Given the description of an element on the screen output the (x, y) to click on. 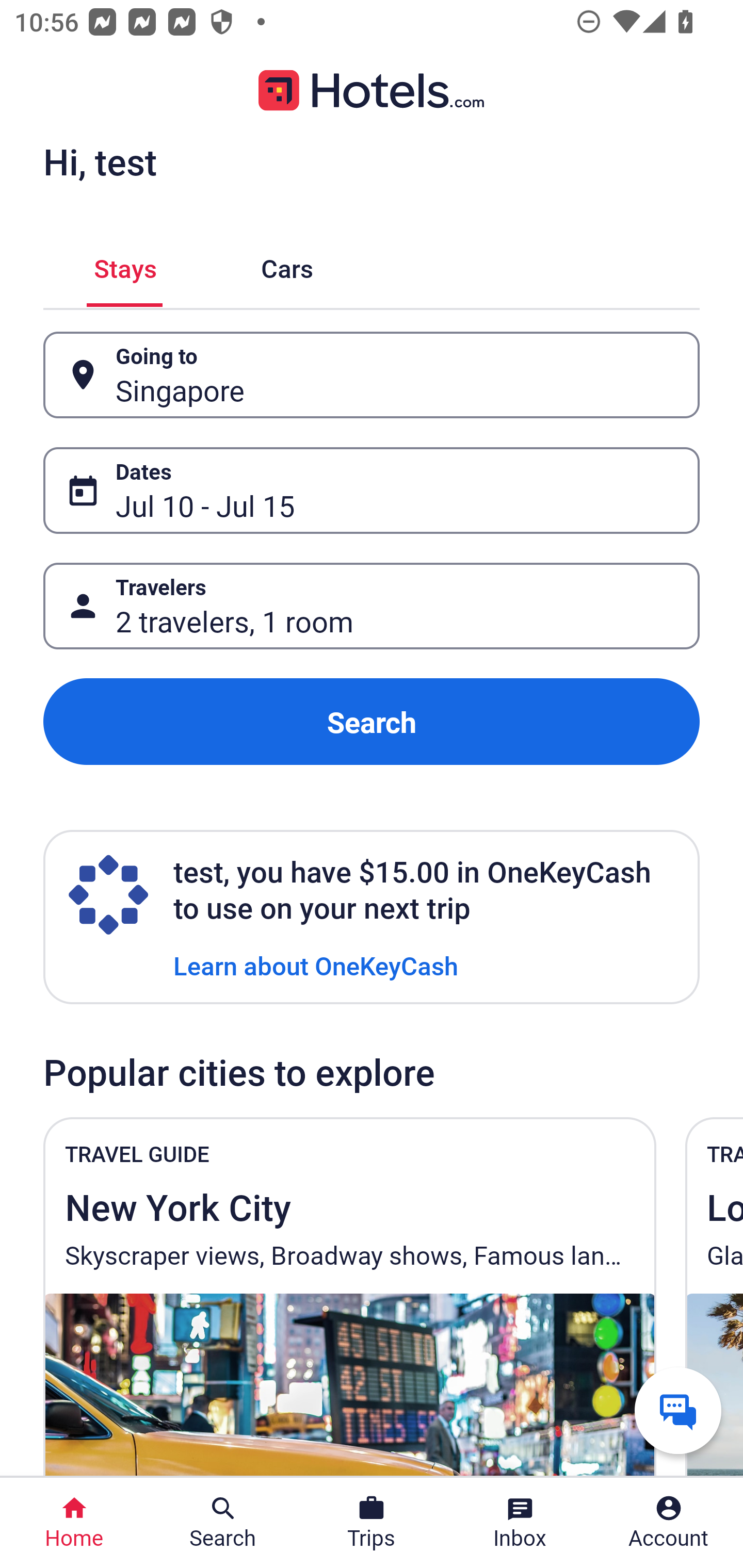
Hi, test (99, 161)
Cars (286, 265)
Going to Button Singapore (371, 375)
Dates Button Jul 10 - Jul 15 (371, 489)
Travelers Button 2 travelers, 1 room (371, 605)
Search (371, 721)
Learn about OneKeyCash Learn about OneKeyCash Link (315, 964)
Get help from a virtual agent (677, 1410)
Search Search Button (222, 1522)
Trips Trips Button (371, 1522)
Inbox Inbox Button (519, 1522)
Account Profile. Button (668, 1522)
